Given the description of an element on the screen output the (x, y) to click on. 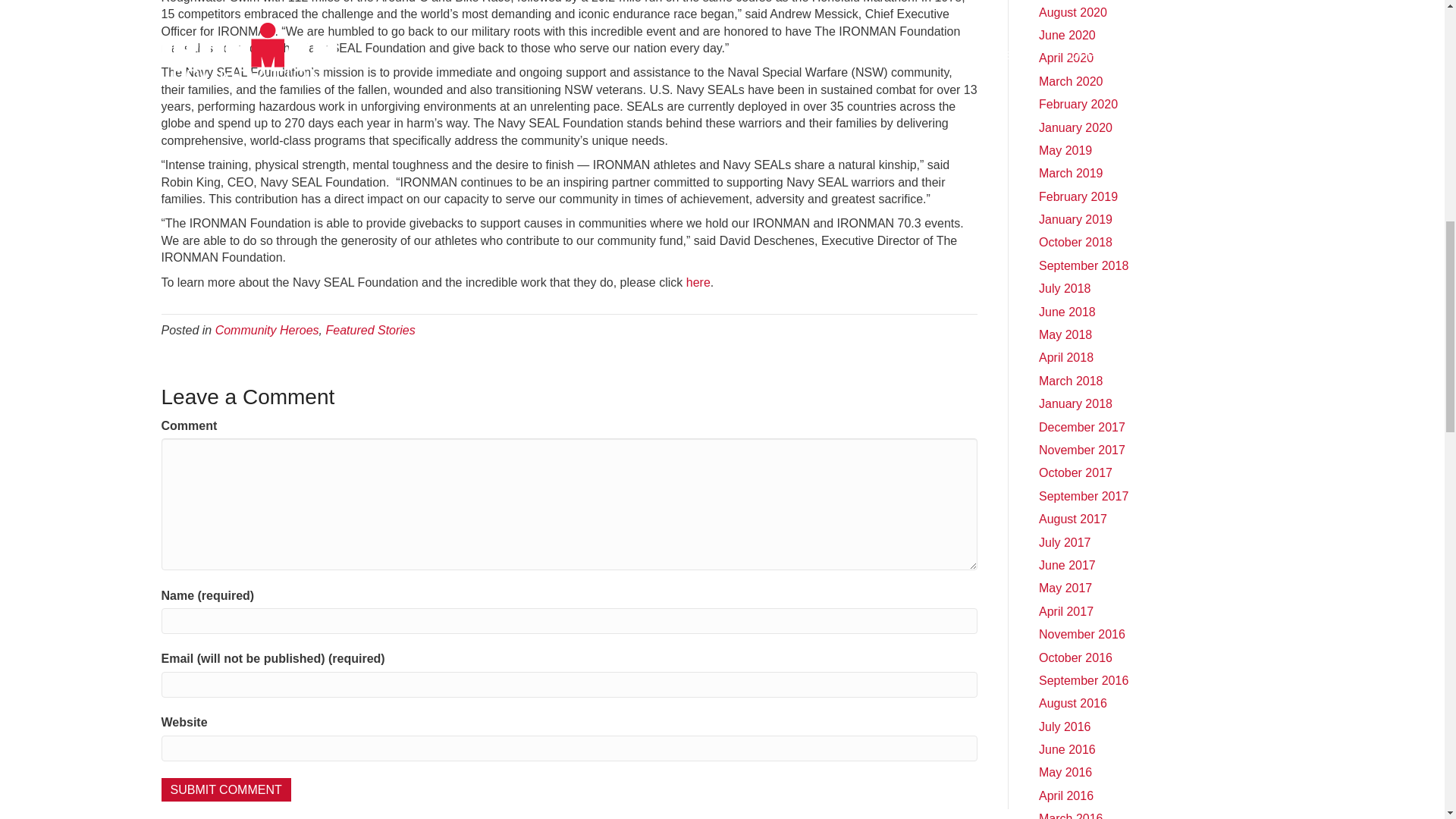
here (697, 282)
Submit Comment (224, 789)
Featured Stories (369, 329)
Community Heroes (266, 329)
Submit Comment (224, 789)
